Given the description of an element on the screen output the (x, y) to click on. 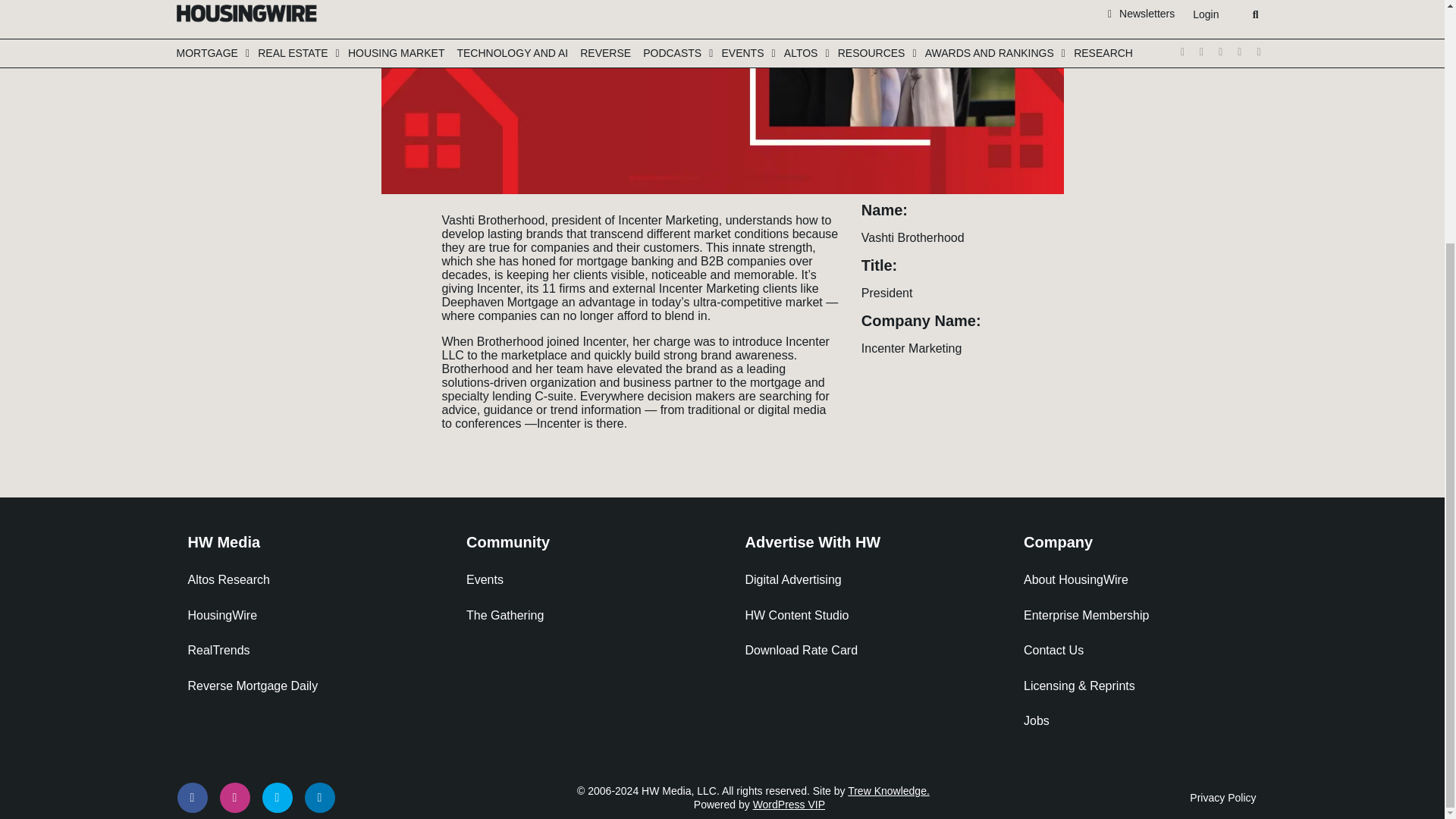
Click to share on LinkedIn (398, 260)
Click to copy link (398, 306)
Click to share on Twitter (398, 215)
Click to share on Facebook (398, 237)
Click to email a link to a friend (398, 283)
